Given the description of an element on the screen output the (x, y) to click on. 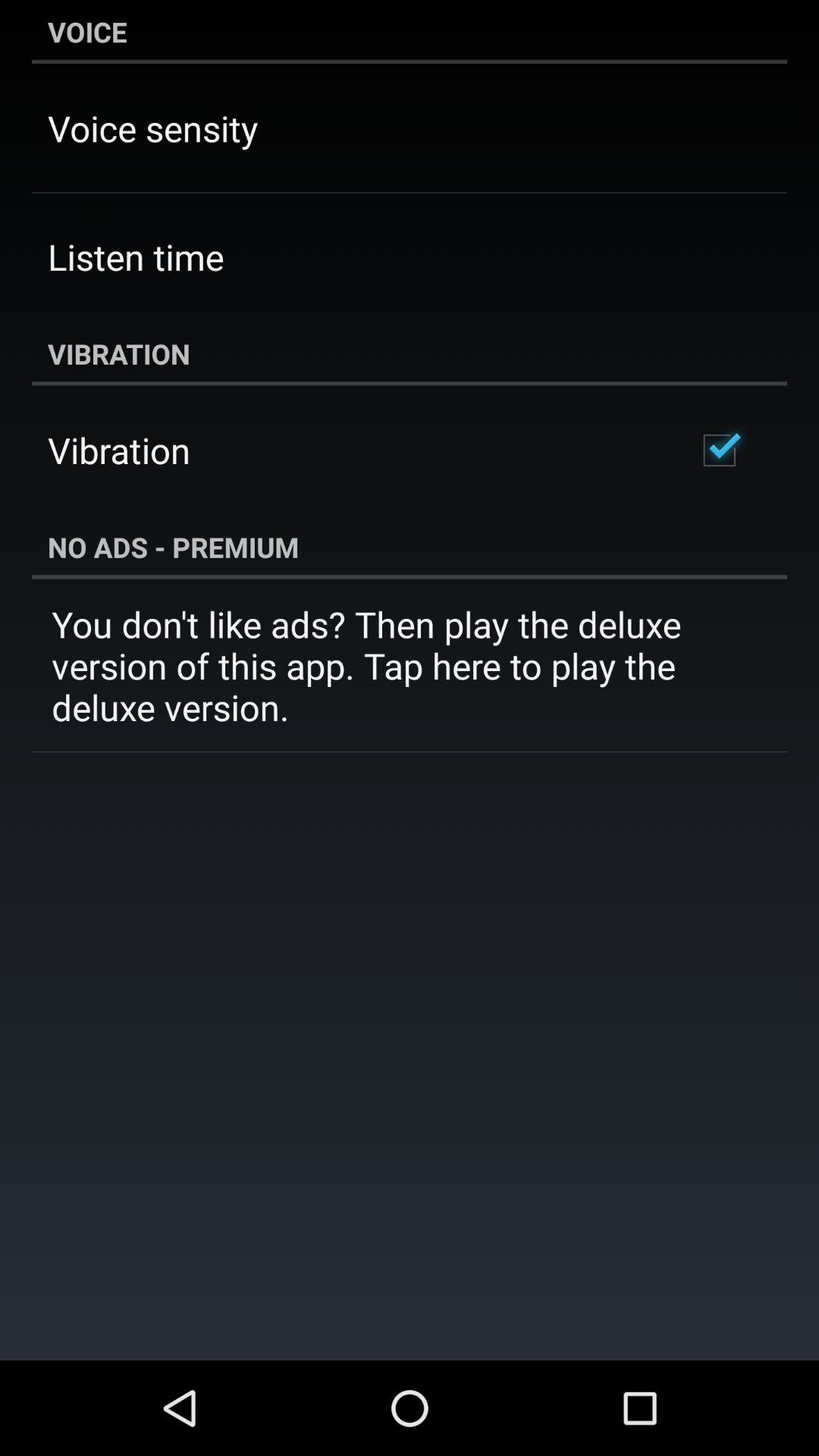
turn off the item to the right of vibration icon (719, 450)
